Given the description of an element on the screen output the (x, y) to click on. 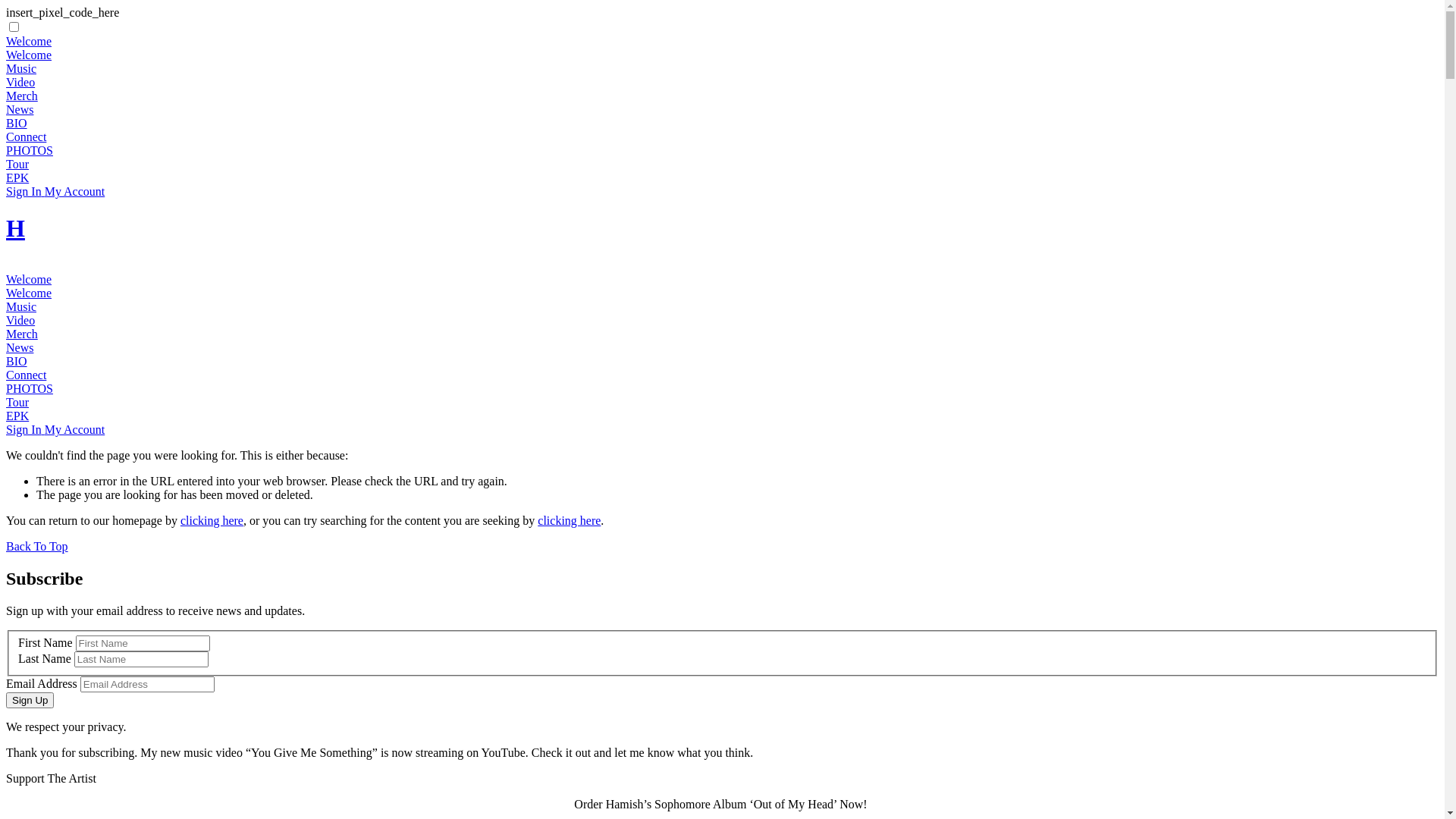
Tour Element type: text (17, 401)
clicking here Element type: text (568, 520)
Music Element type: text (21, 306)
Sign In My Account Element type: text (55, 429)
H Element type: text (15, 227)
EPK Element type: text (17, 177)
Merch Element type: text (21, 333)
EPK Element type: text (17, 415)
Welcome Element type: text (28, 40)
Welcome Element type: text (28, 54)
Connect Element type: text (26, 136)
Merch Element type: text (21, 95)
Sign In My Account Element type: text (55, 191)
Back To Top Element type: text (37, 545)
BIO Element type: text (16, 122)
PHOTOS Element type: text (29, 388)
Connect Element type: text (26, 374)
clicking here Element type: text (211, 520)
Music Element type: text (21, 68)
News Element type: text (19, 347)
News Element type: text (19, 109)
Sign Up Element type: text (29, 700)
Tour Element type: text (17, 163)
Welcome Element type: text (28, 279)
Video Element type: text (20, 319)
PHOTOS Element type: text (29, 150)
Welcome Element type: text (28, 292)
Video Element type: text (20, 81)
BIO Element type: text (16, 360)
